Given the description of an element on the screen output the (x, y) to click on. 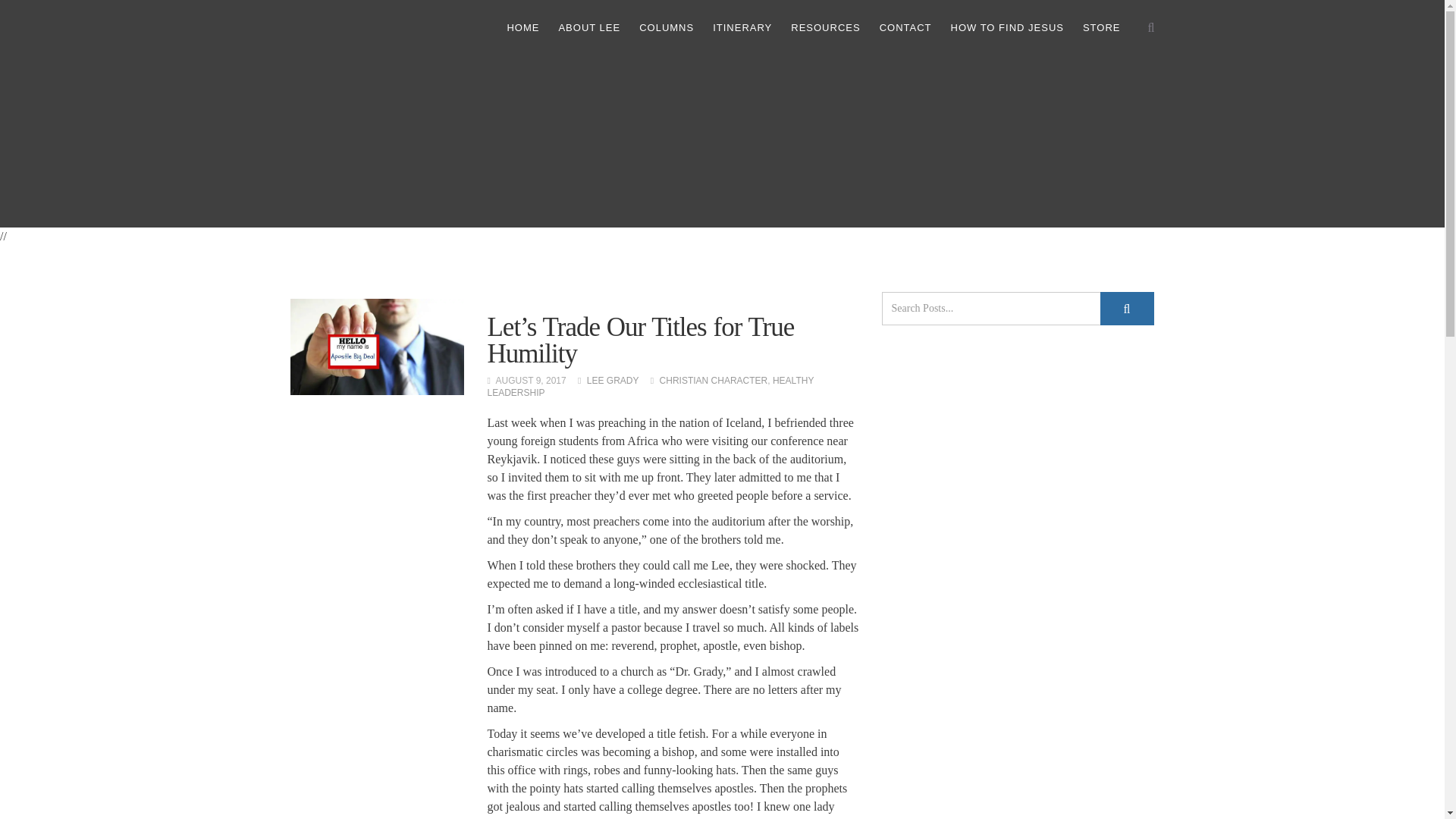
HOW TO FIND JESUS (1007, 27)
CONTACT (905, 27)
CHRISTIAN CHARACTER (713, 380)
ITINERARY (742, 27)
LEE GRADY (612, 380)
ABOUT LEE (588, 27)
RESOURCES (825, 27)
STORE (1102, 27)
COLUMNS (666, 27)
